Given the description of an element on the screen output the (x, y) to click on. 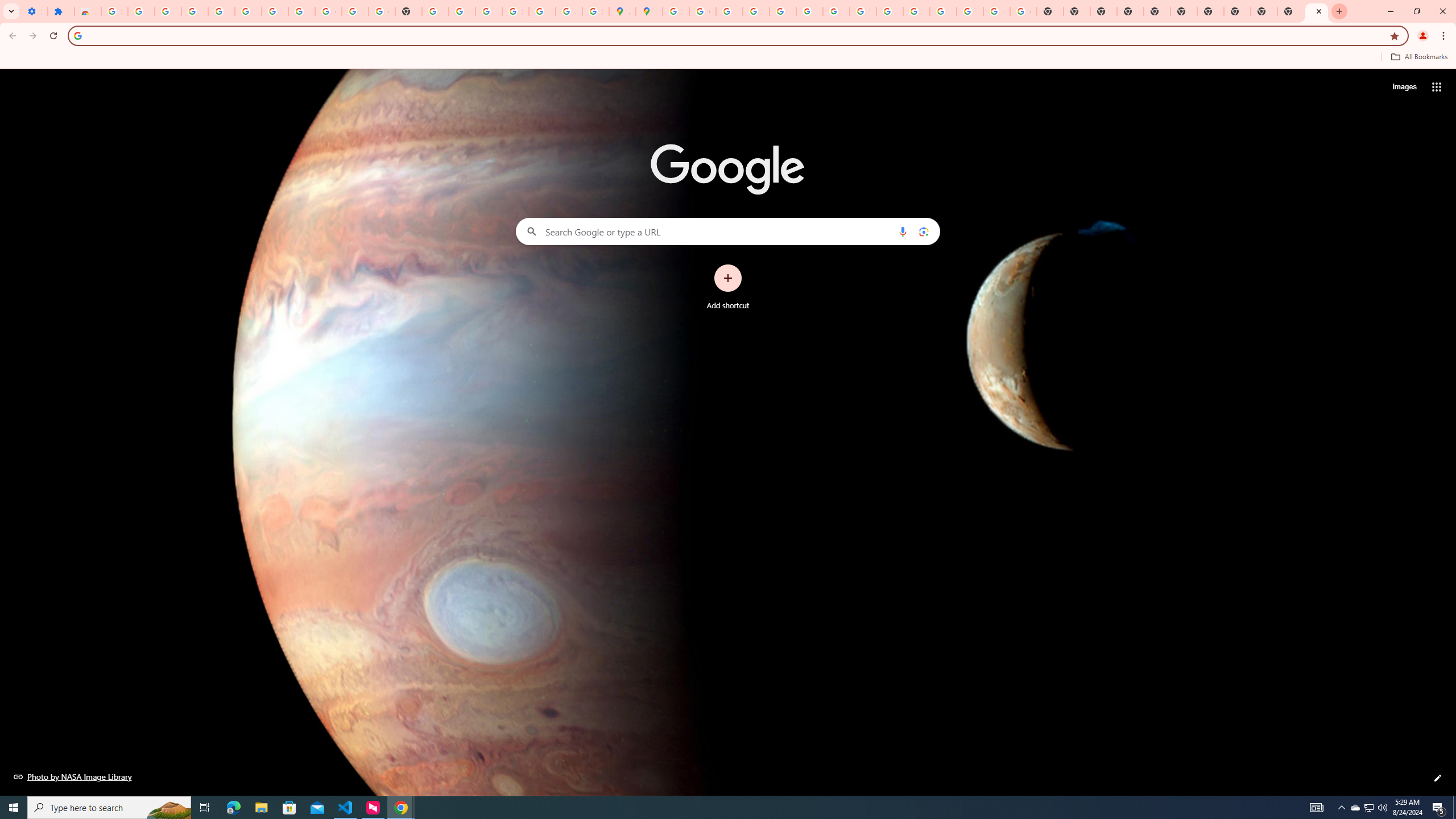
New Tab (1130, 11)
Sign in - Google Accounts (114, 11)
Sign in - Google Accounts (515, 11)
Safety in Our Products - Google Safety Center (595, 11)
YouTube (355, 11)
Search for Images  (1403, 87)
New Tab (1316, 11)
Search icon (77, 35)
Learn how to find your photos - Google Photos Help (221, 11)
